Given the description of an element on the screen output the (x, y) to click on. 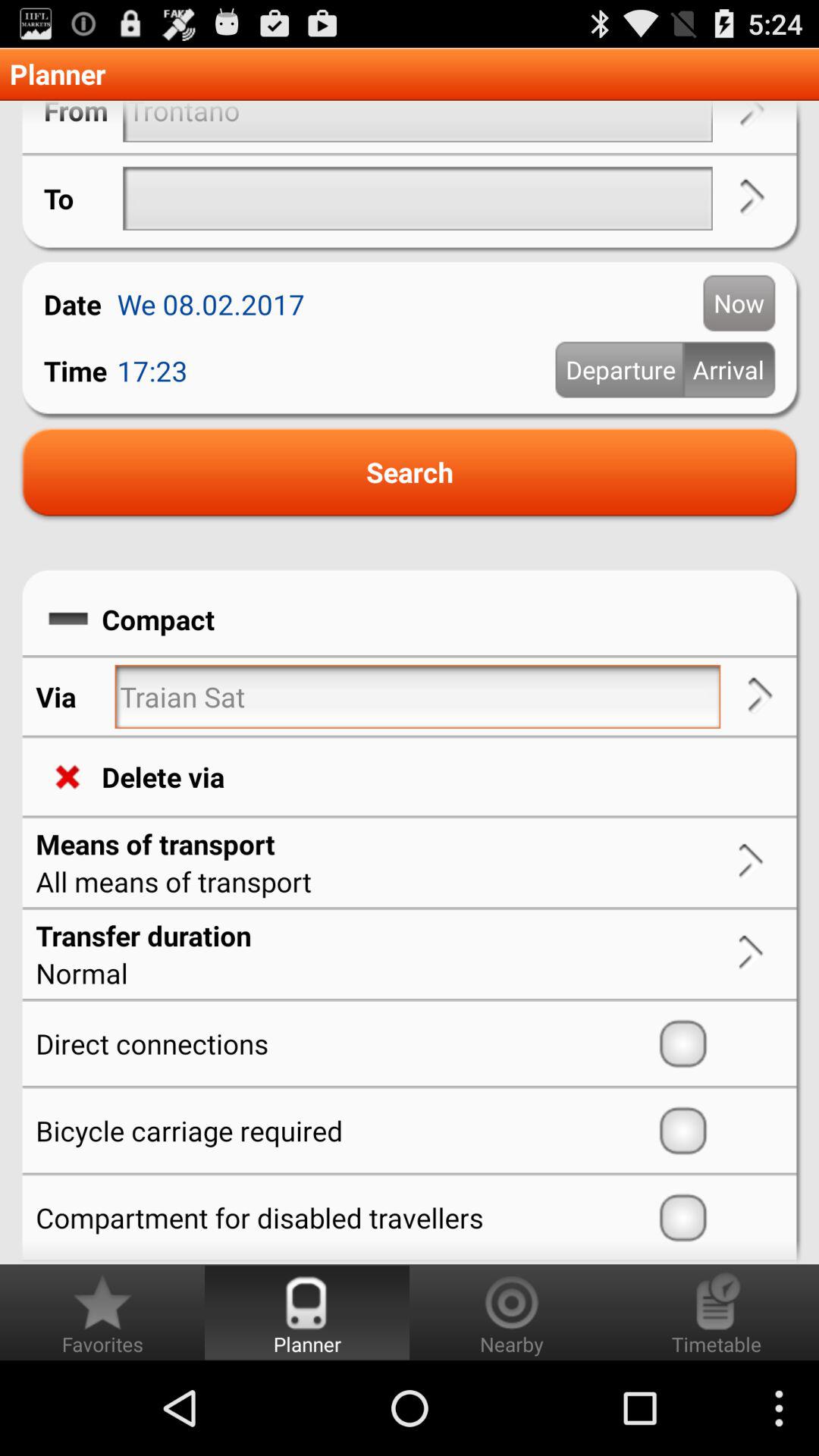
select the text below bicycle carriage required (343, 1217)
select the 2nd checkbox on the web page (717, 1131)
click the right arrow icon right to means of transport (750, 862)
tap on the text direct connections below the text normal (343, 1043)
click the field right to to at the top of the page (417, 198)
